Given the description of an element on the screen output the (x, y) to click on. 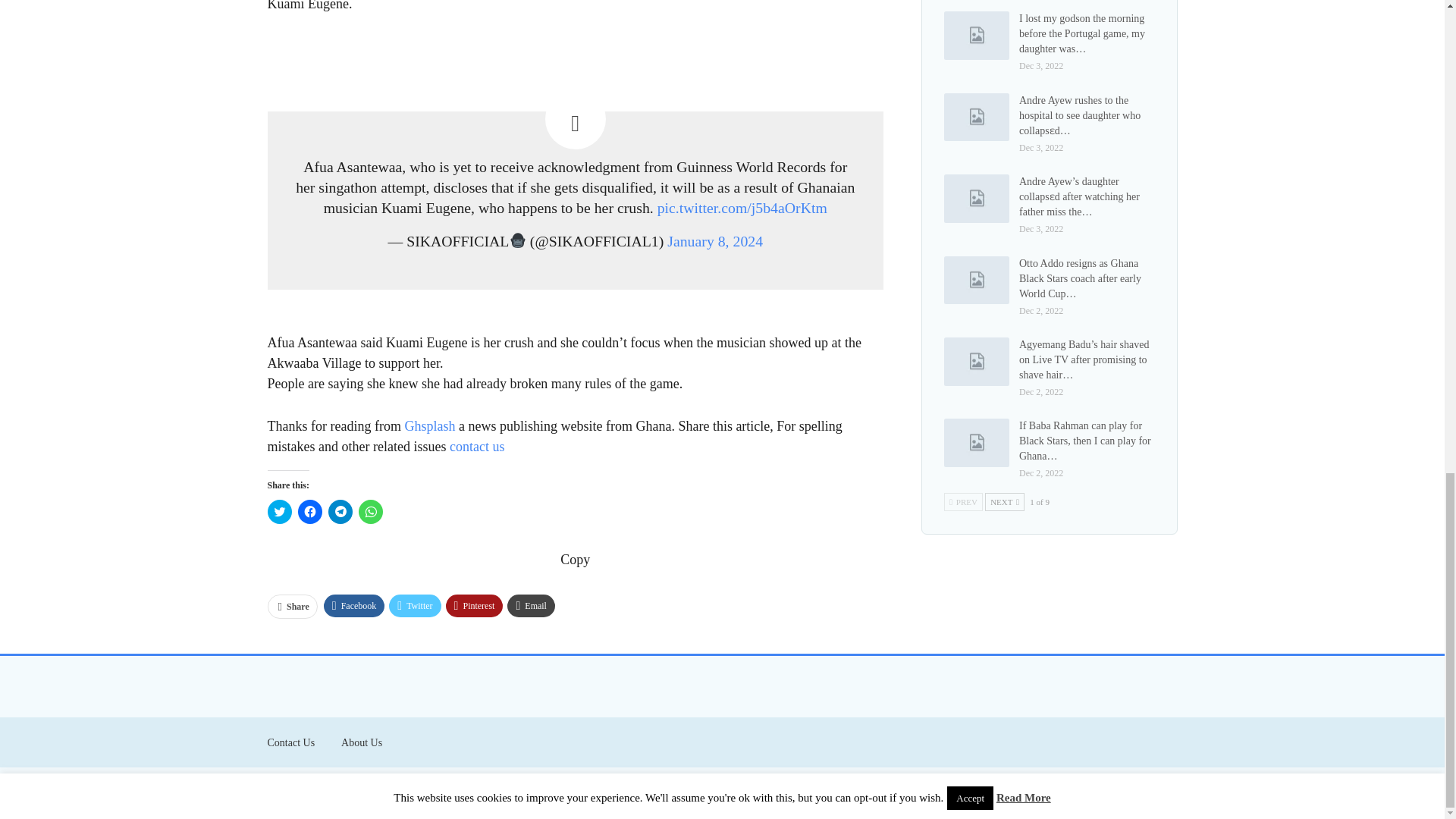
Twitter (414, 605)
Click to share on Telegram (339, 511)
Click to share on Facebook (309, 511)
Click to share on WhatsApp (369, 511)
Facebook (354, 605)
contact us (476, 446)
Click to share on Twitter (278, 511)
Pinterest (474, 605)
Ghsplash (429, 426)
Email (530, 605)
January 8, 2024 (714, 240)
